Given the description of an element on the screen output the (x, y) to click on. 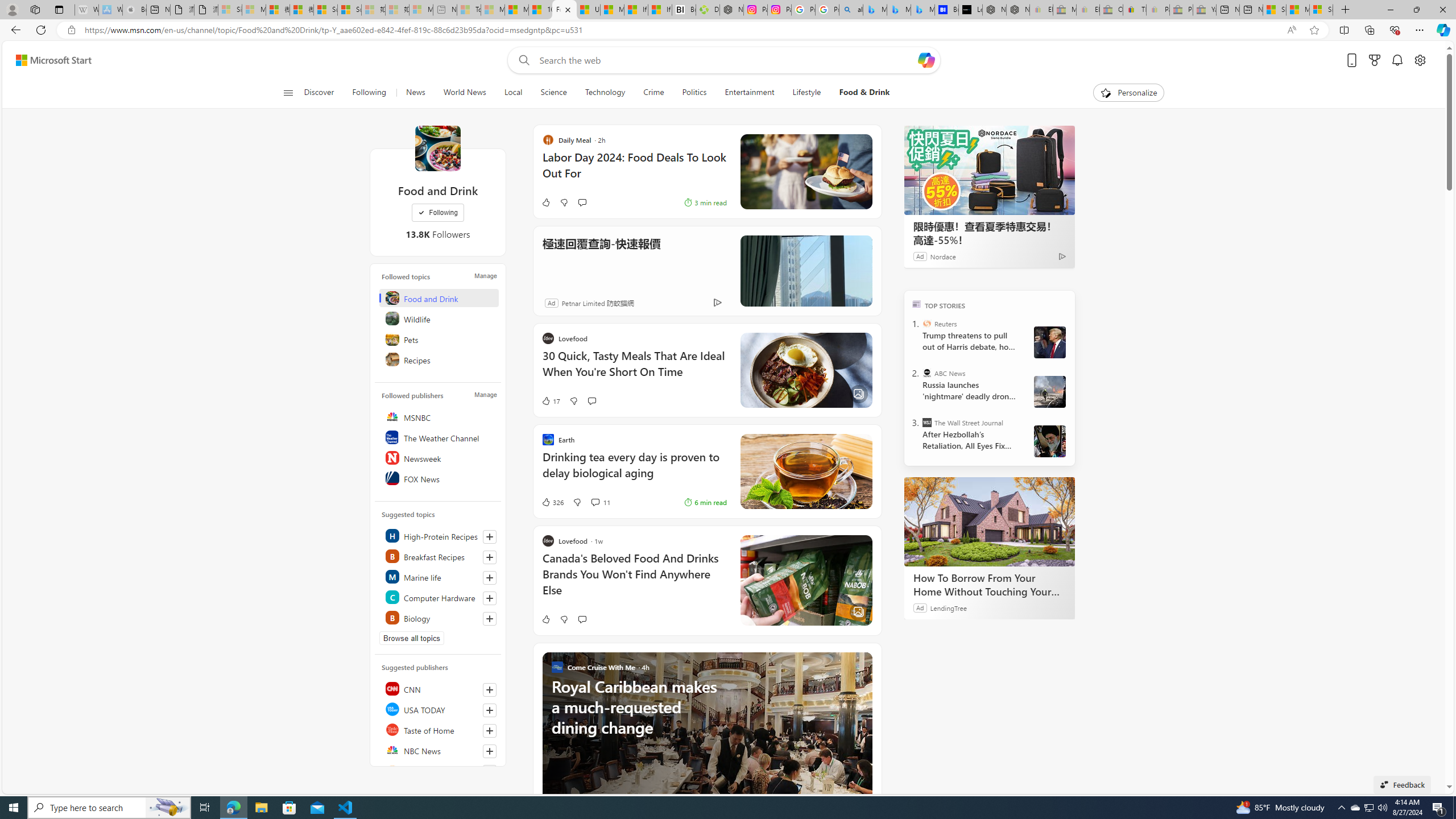
Technology (605, 92)
Technology (604, 92)
Press Room - eBay Inc. - Sleeping (1181, 9)
Food & Drink (863, 92)
Browse all topics (412, 638)
Drinking tea every day is proven to delay biological aging (633, 470)
